Given the description of an element on the screen output the (x, y) to click on. 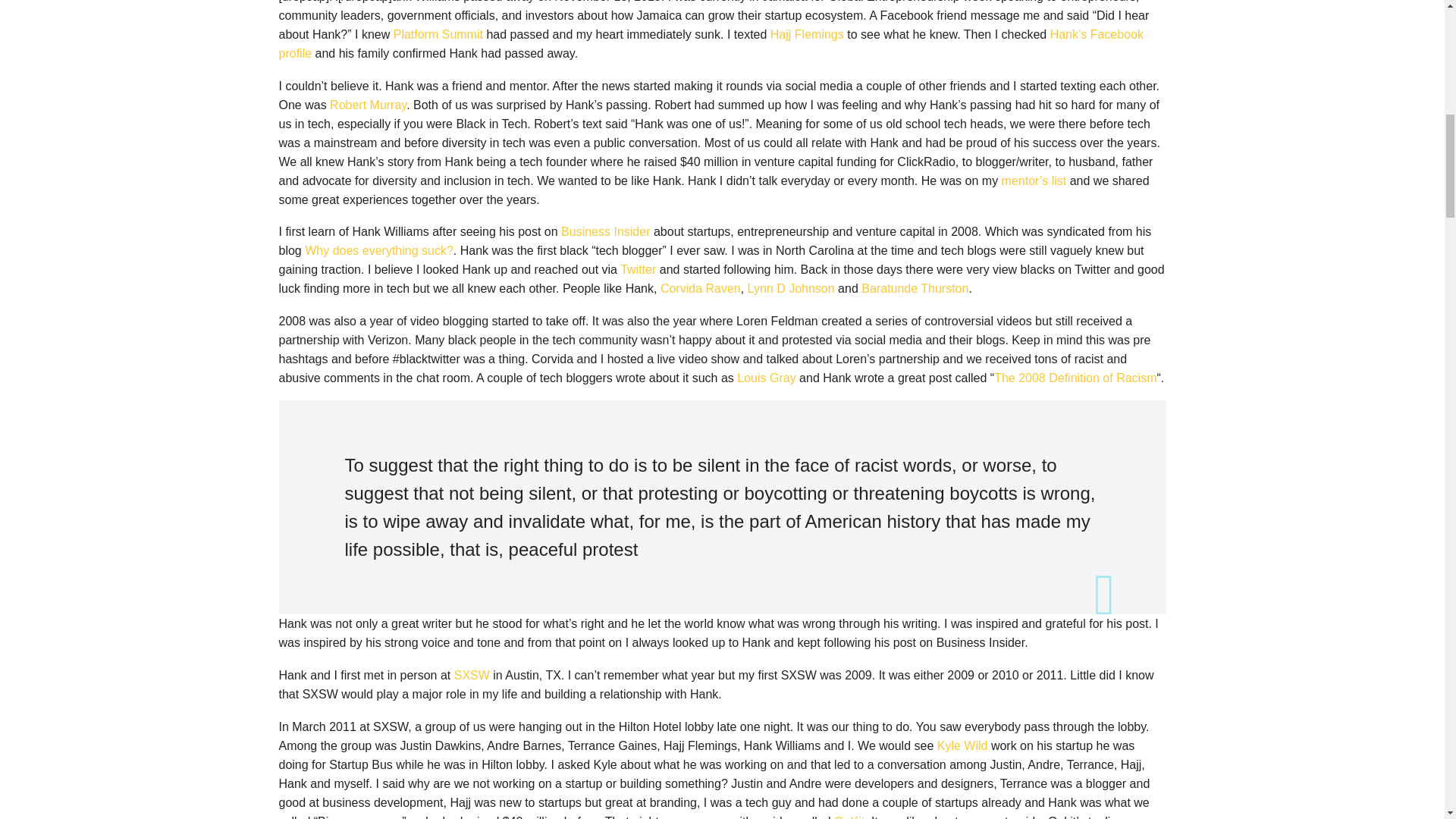
GoKit (849, 816)
Corvida Raven (701, 287)
Baratunde Thurston (914, 287)
Business Insider (604, 231)
Kyle Wild (962, 745)
Why does everything suck? (378, 250)
Louis Gray (765, 377)
Lynn D Johnson (791, 287)
Twitter (638, 269)
The 2008 Definition of Racism (1075, 377)
Robert Murray (368, 104)
Platform Summit (438, 33)
SXSW (471, 675)
Hajj Flemings (807, 33)
